Given the description of an element on the screen output the (x, y) to click on. 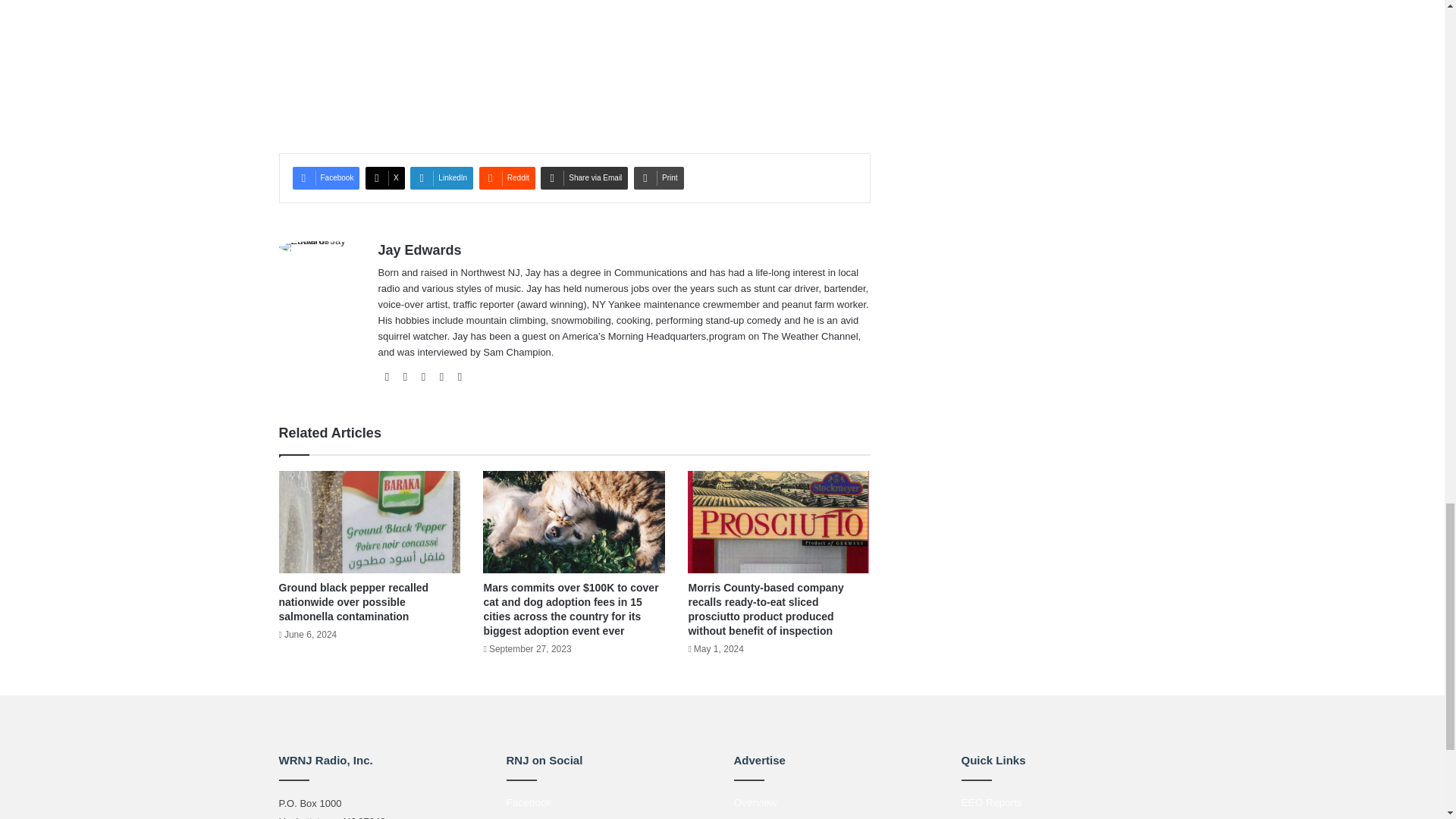
LinkedIn (441, 178)
Print (658, 178)
Facebook (325, 178)
X (384, 178)
Share via Email (583, 178)
Reddit (507, 178)
